Given the description of an element on the screen output the (x, y) to click on. 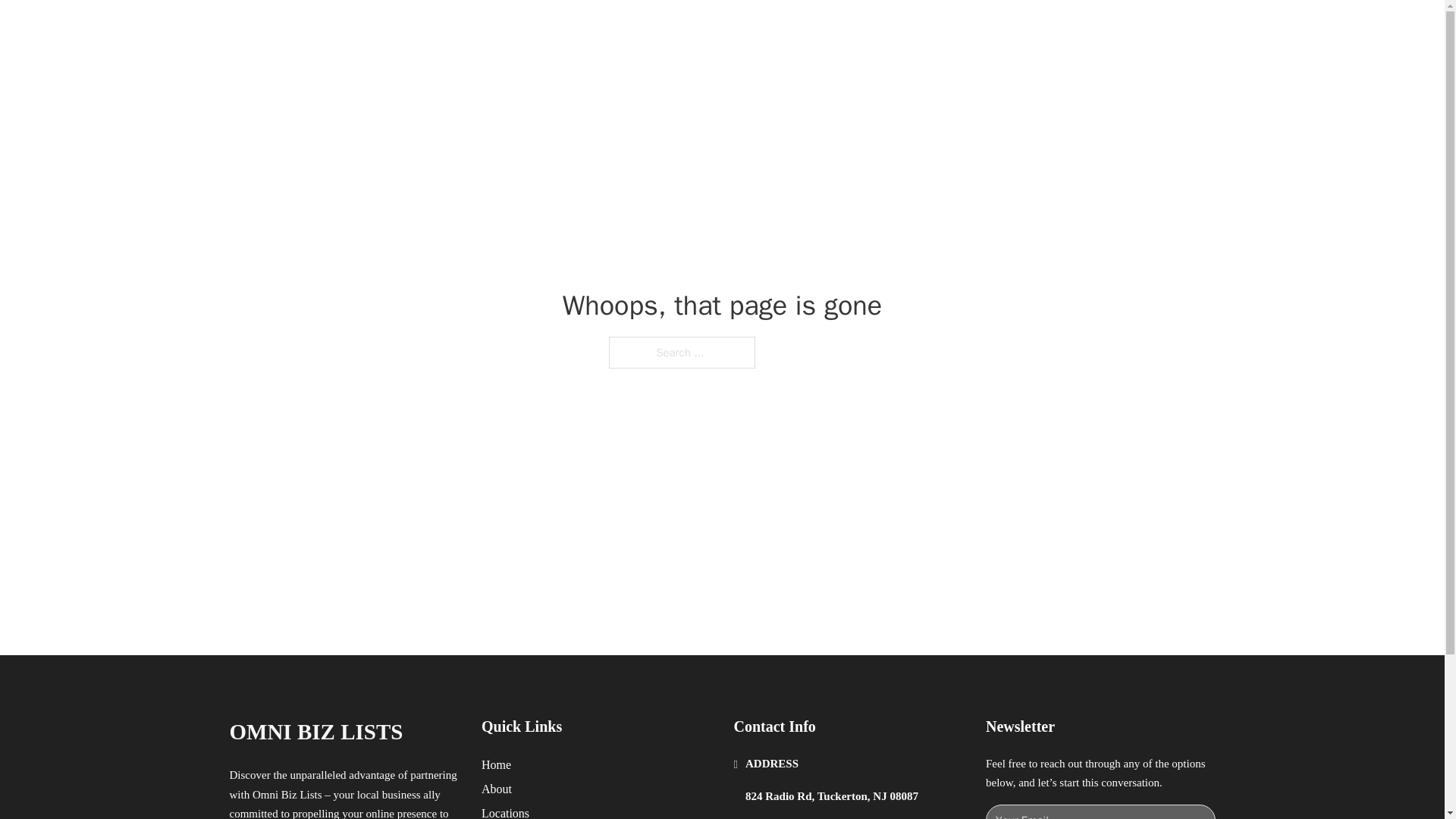
HOME (919, 29)
OMNI BIZ LISTS (315, 732)
Home (496, 764)
OMNI BIZ LISTS (390, 28)
About (496, 788)
Locations (505, 811)
LOCATIONS (990, 29)
